Given the description of an element on the screen output the (x, y) to click on. 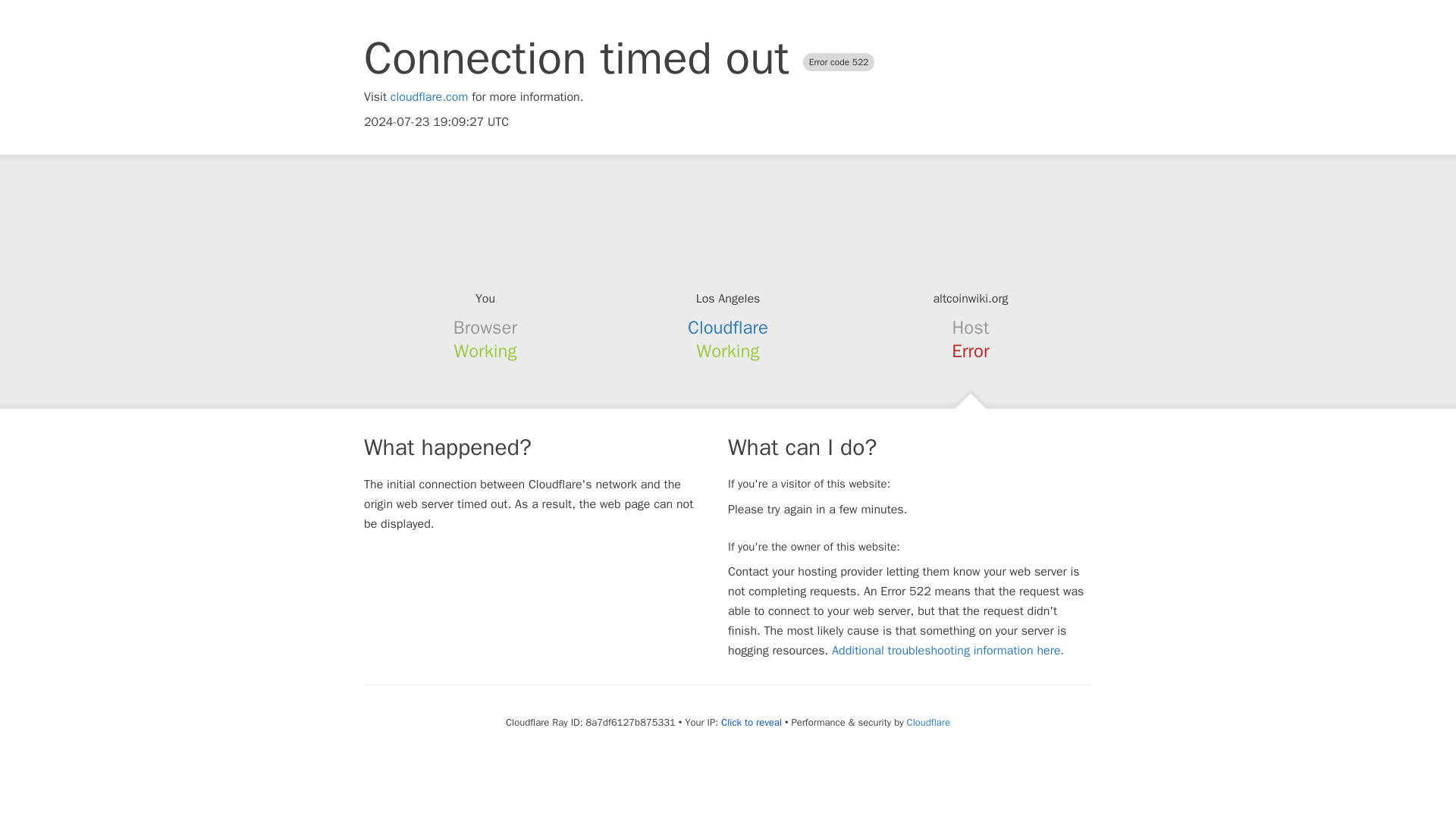
Click to reveal (750, 722)
Cloudflare (727, 327)
Cloudflare (928, 721)
Additional troubleshooting information here. (947, 650)
cloudflare.com (429, 96)
